Given the description of an element on the screen output the (x, y) to click on. 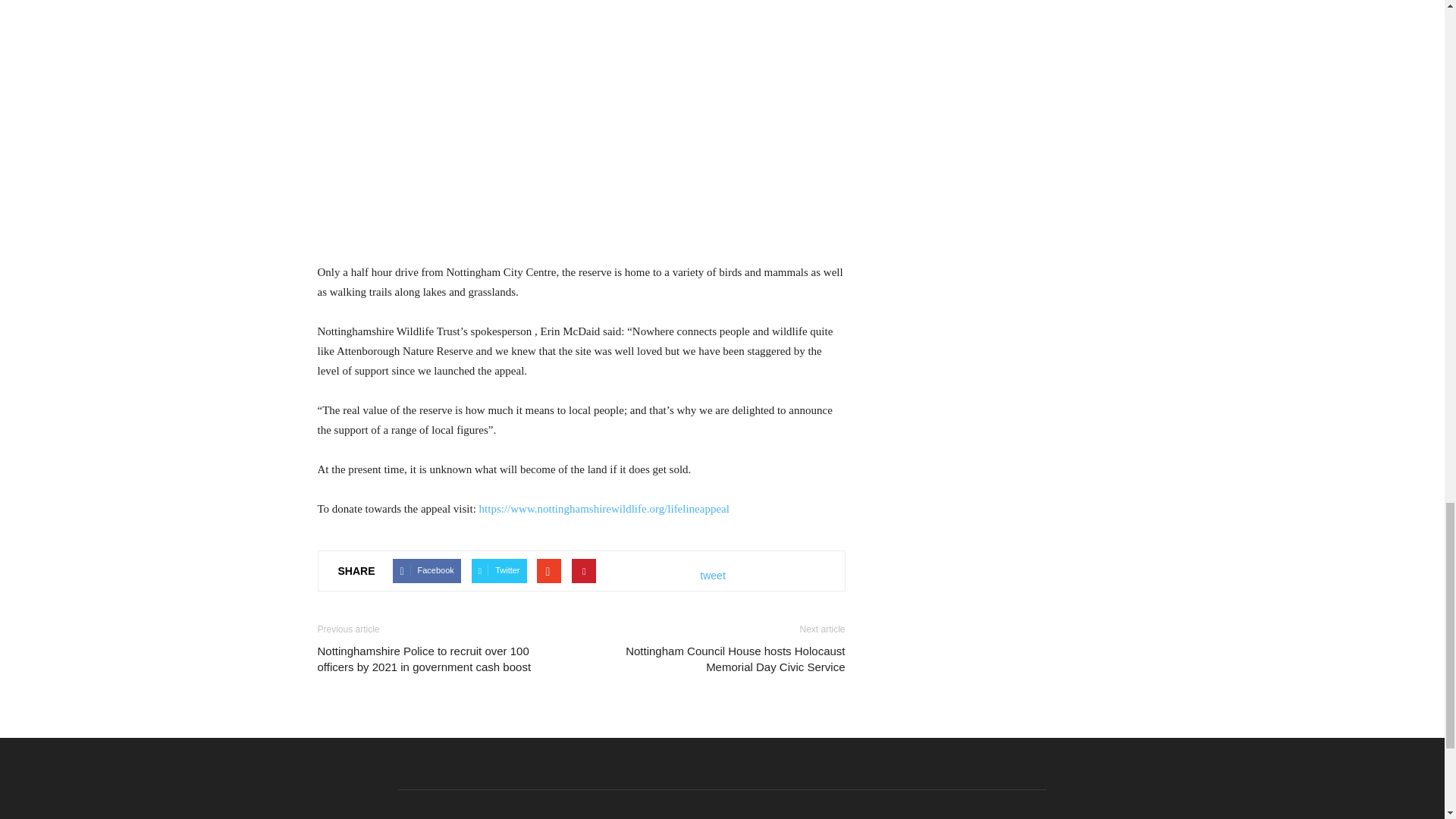
Facebook (426, 571)
tweet (712, 576)
Twitter (499, 571)
